Given the description of an element on the screen output the (x, y) to click on. 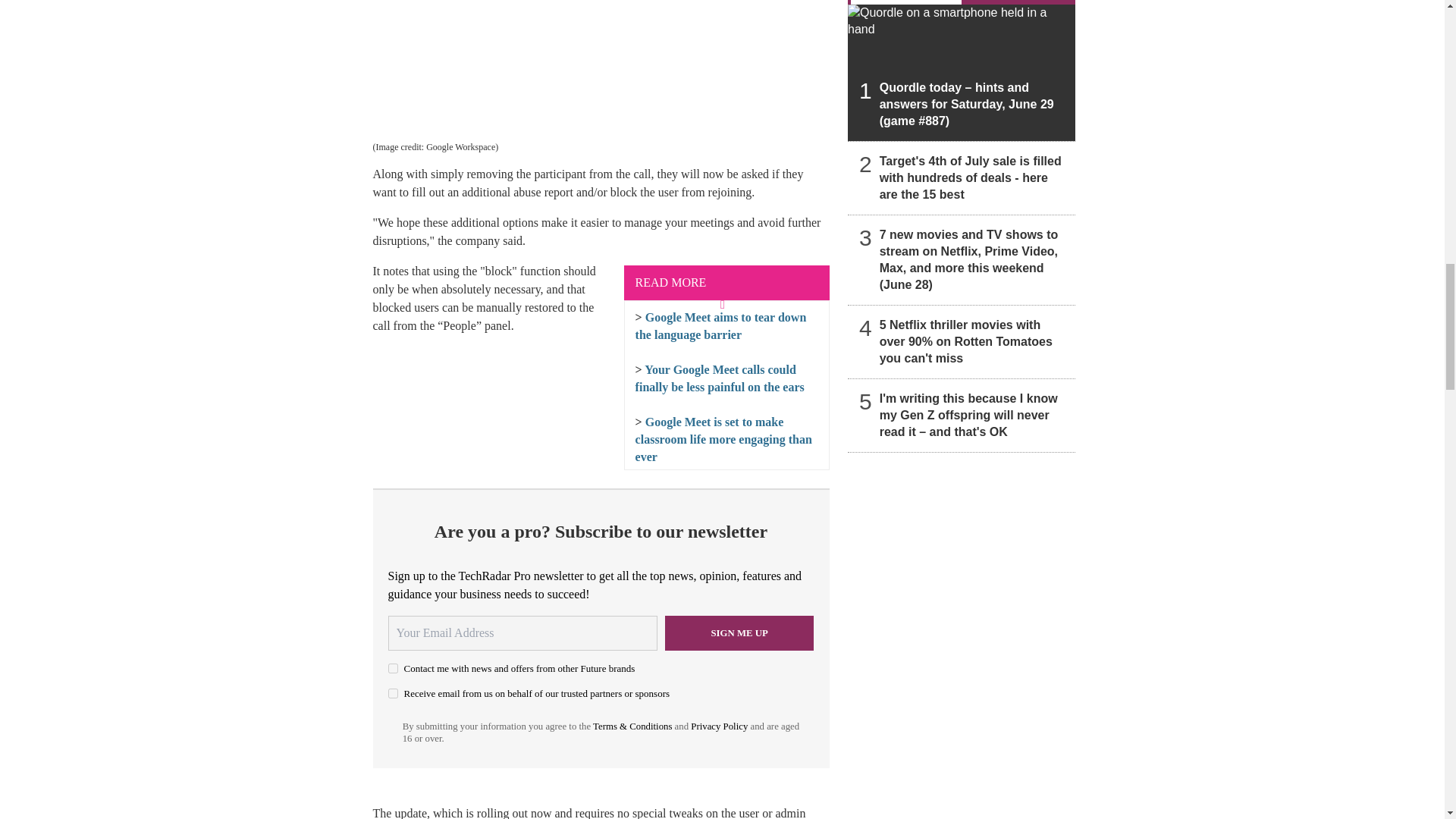
on (392, 693)
Sign me up (739, 632)
on (392, 668)
